Given the description of an element on the screen output the (x, y) to click on. 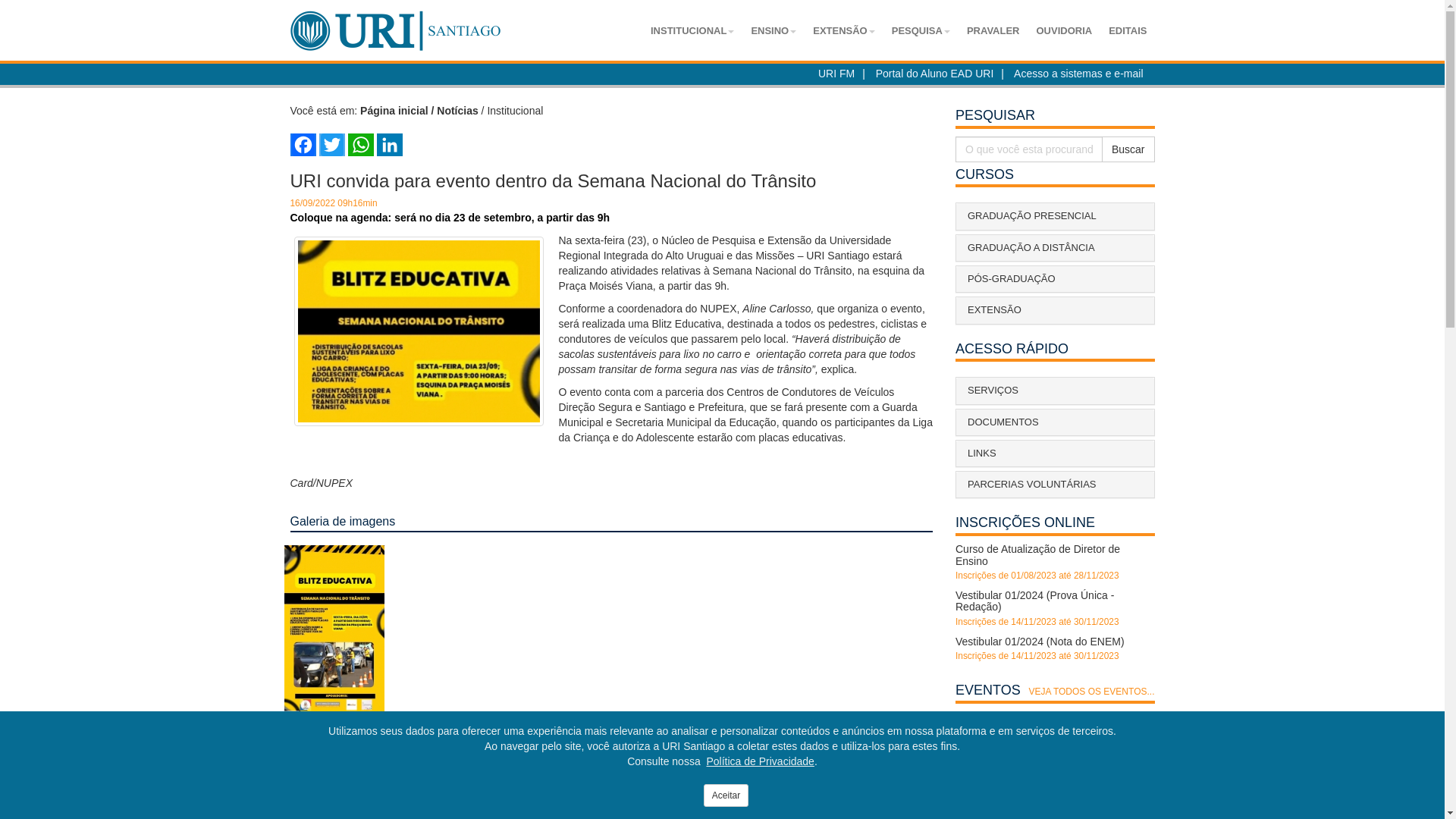
Portal do Aluno EAD URI Element type: text (934, 73)
LINKS Element type: text (1054, 453)
INSTITUCIONAL Element type: text (692, 30)
Twitter Element type: text (331, 144)
PRAVALER Element type: text (993, 30)
Confira todos os eventos... Element type: text (1018, 716)
DOCUMENTOS Element type: text (1054, 422)
Acesso a sistemas e e-mail Element type: text (1077, 73)
Buscar Element type: text (1127, 149)
Aceitar Element type: text (725, 795)
EDITAIS Element type: text (1127, 30)
VEJA TODOS OS EVENTOS... Element type: text (1091, 691)
OUVIDORIA Element type: text (1063, 30)
WhatsApp Element type: text (360, 144)
ENSINO Element type: text (773, 30)
PESQUISA Element type: text (920, 30)
URI FM Element type: text (836, 73)
Facebook Element type: text (302, 144)
LinkedIn Element type: text (388, 144)
